Given the description of an element on the screen output the (x, y) to click on. 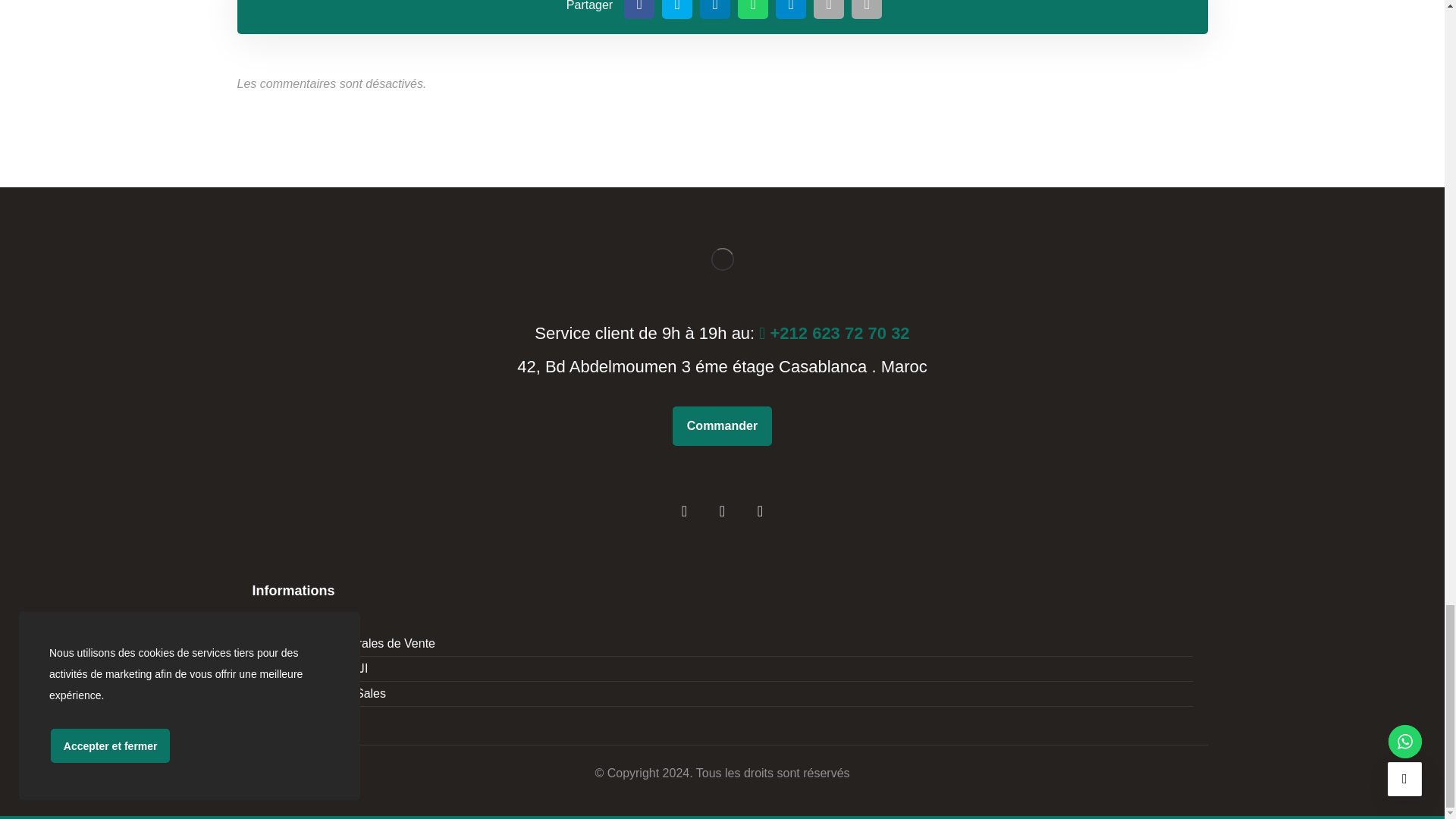
Share on Facebook (638, 9)
Share by Whatsapp (753, 9)
Share by Email (828, 9)
Share on Linkedin (715, 9)
Share on Twitter (677, 9)
Copy  Shortlink (866, 9)
Share by Telegram (791, 9)
